Given the description of an element on the screen output the (x, y) to click on. 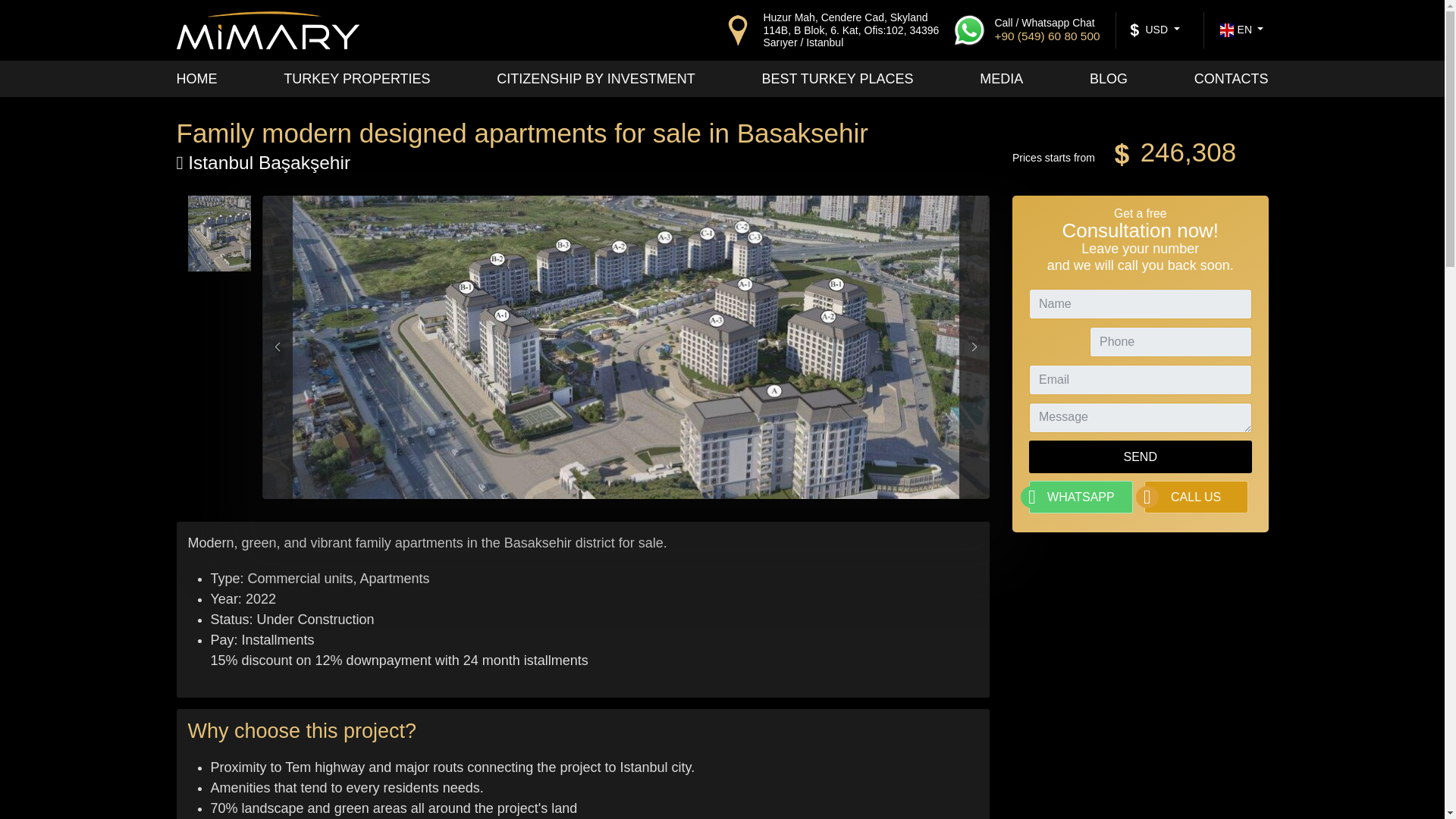
USD (1154, 30)
WHATSAPP (1080, 496)
CITIZENSHIP BY INVESTMENT (595, 78)
CONTACTS (1230, 78)
MEDIA (1001, 78)
CALL US (1195, 496)
TURKEY PROPERTIES (356, 78)
SEND (1140, 456)
BLOG (1107, 78)
BEST TURKEY PLACES (836, 78)
EN (1241, 30)
HOME (196, 78)
